Given the description of an element on the screen output the (x, y) to click on. 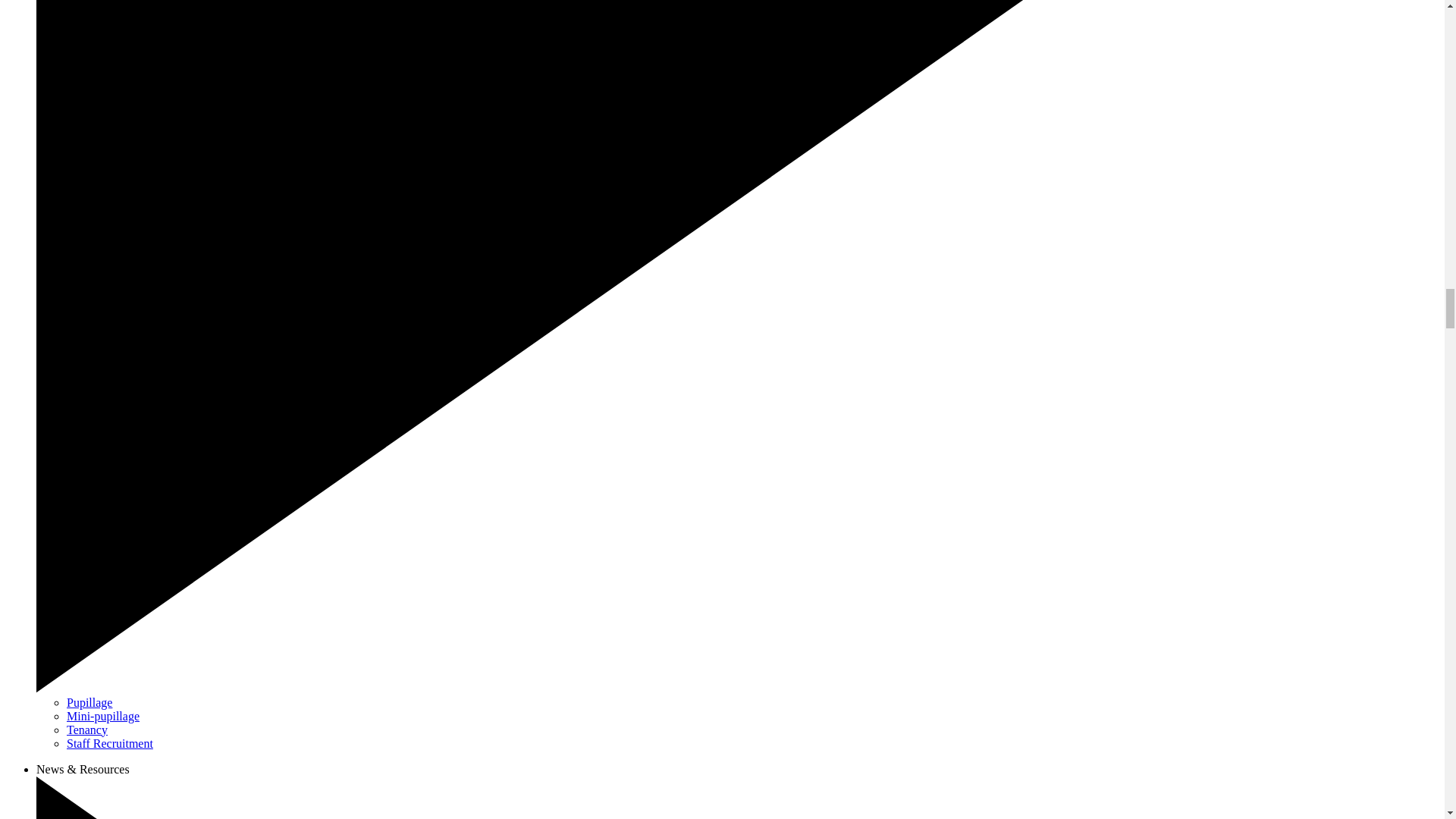
Tenancy (86, 729)
Staff Recruitment (109, 743)
Mini-pupillage (102, 716)
Pupillage (89, 702)
